Given the description of an element on the screen output the (x, y) to click on. 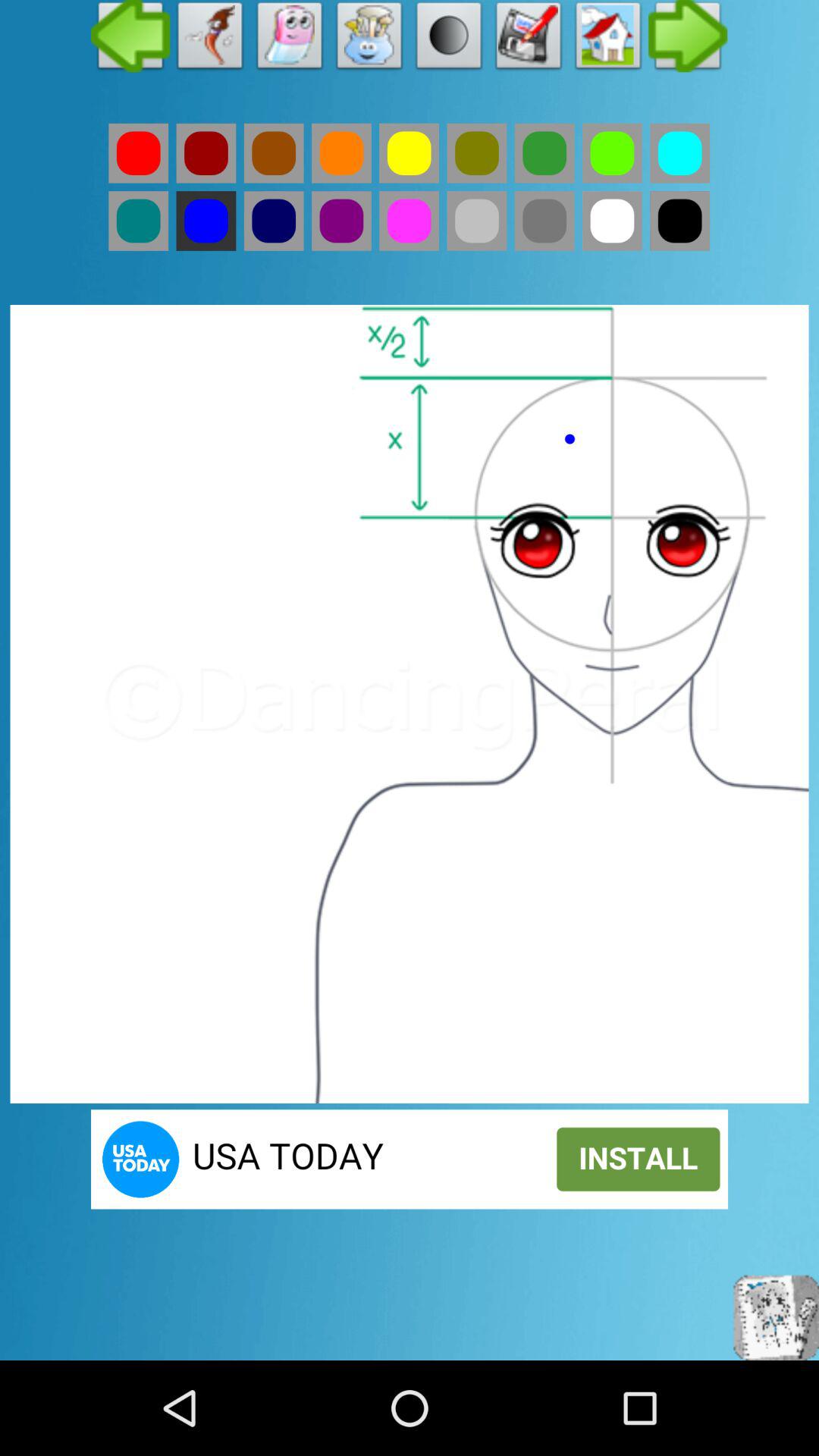
white color (612, 220)
